Given the description of an element on the screen output the (x, y) to click on. 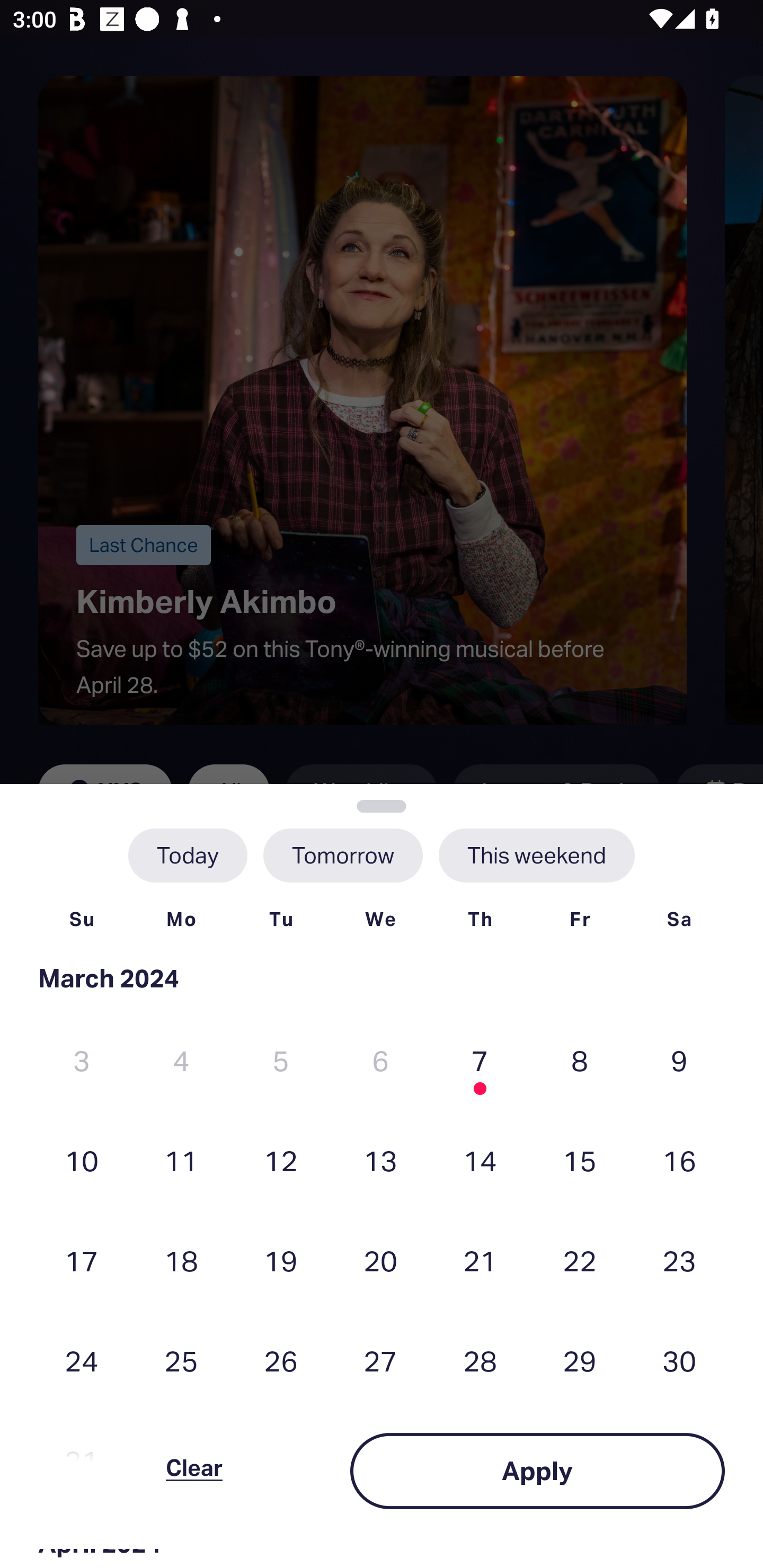
Today (187, 854)
Tomorrow (342, 854)
This weekend (536, 854)
3 (81, 1060)
4 (181, 1060)
5 (280, 1060)
6 (380, 1060)
7 (479, 1060)
8 (579, 1060)
9 (678, 1060)
10 (81, 1160)
11 (181, 1160)
12 (280, 1160)
13 (380, 1160)
14 (479, 1160)
15 (579, 1160)
16 (678, 1160)
17 (81, 1260)
18 (181, 1260)
19 (280, 1260)
20 (380, 1260)
21 (479, 1260)
22 (579, 1260)
23 (678, 1260)
24 (81, 1360)
25 (181, 1360)
26 (280, 1360)
27 (380, 1360)
28 (479, 1360)
29 (579, 1360)
30 (678, 1360)
Clear (194, 1470)
Apply (537, 1470)
